Given the description of an element on the screen output the (x, y) to click on. 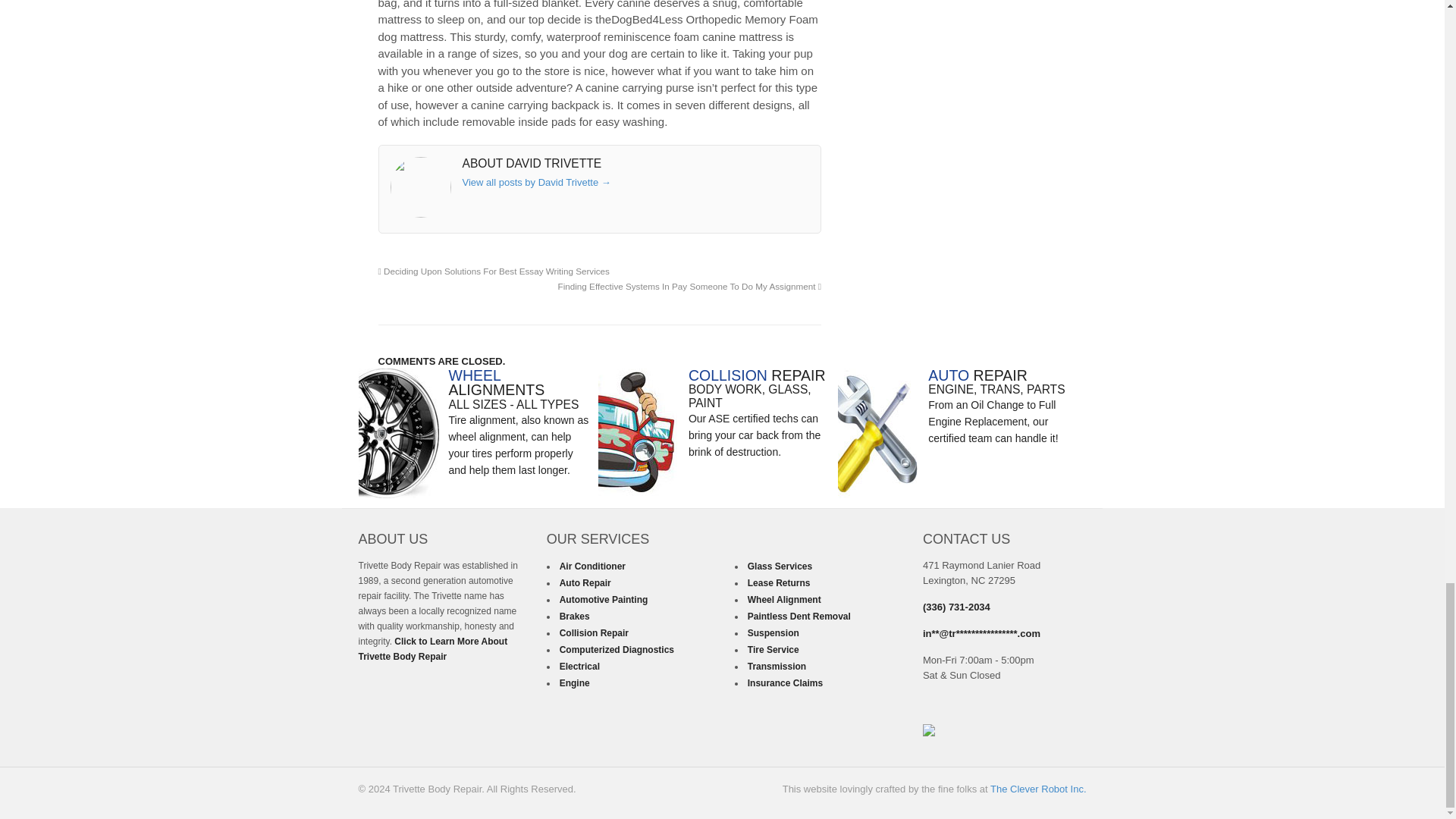
Deciding Upon Solutions For Best Essay Writing Services (492, 271)
Finding Effective Systems In Pay Someone To Do My Assignment (689, 286)
